Given the description of an element on the screen output the (x, y) to click on. 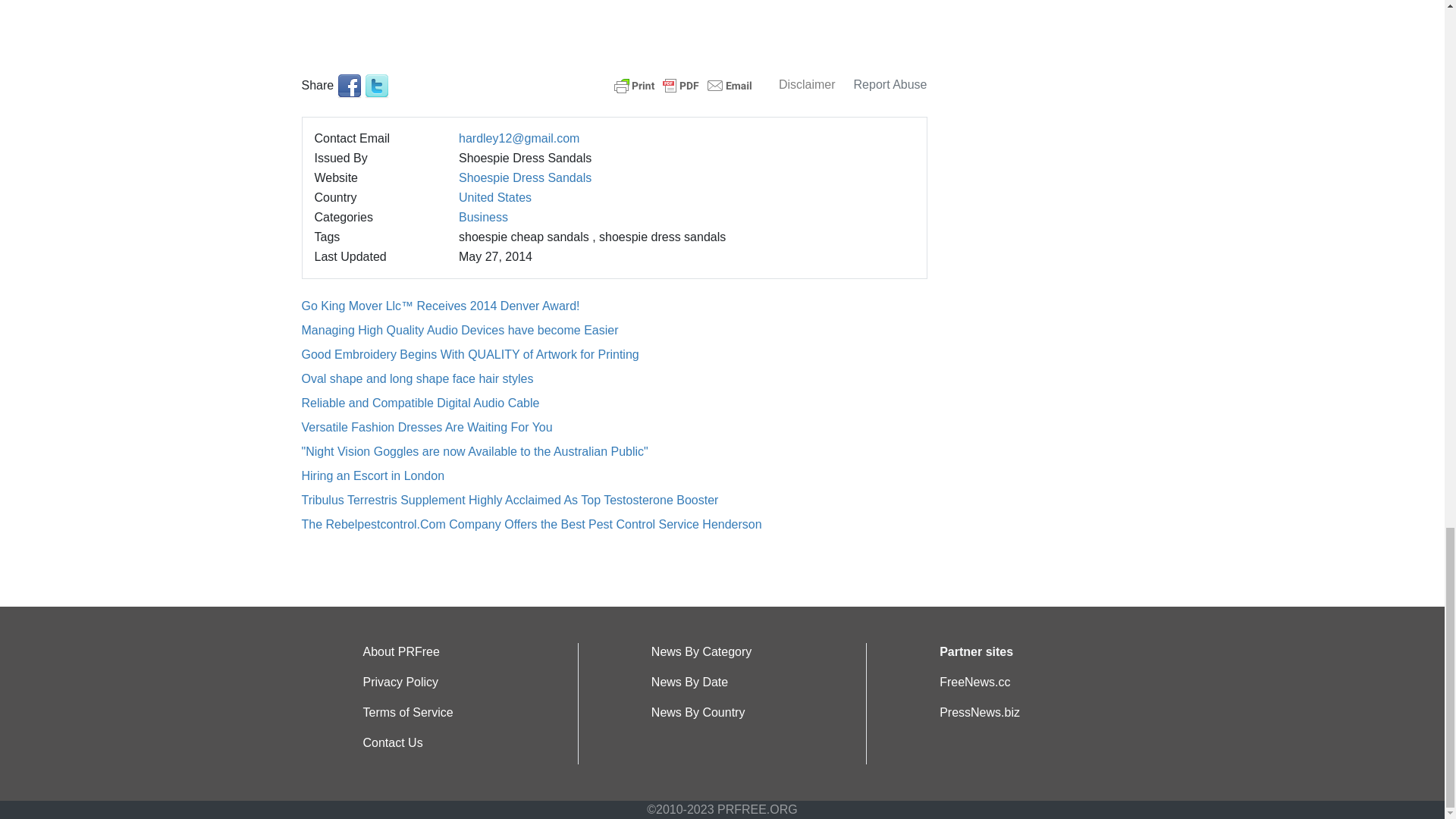
Disclaimer (806, 83)
Managing High Quality Audio Devices have become Easier (459, 329)
United States (494, 196)
Terms of Service (407, 712)
Versatile Fashion Dresses Are Waiting For You (427, 427)
Advertisement (614, 18)
Printer Friendly and PDF (683, 83)
Shoespie Dress Sandals (524, 177)
Business (483, 216)
About PRFree (400, 651)
Privacy Policy (400, 681)
Hiring an Escort in London (373, 475)
Good Embroidery Begins With QUALITY of Artwork for Printing (470, 354)
